Given the description of an element on the screen output the (x, y) to click on. 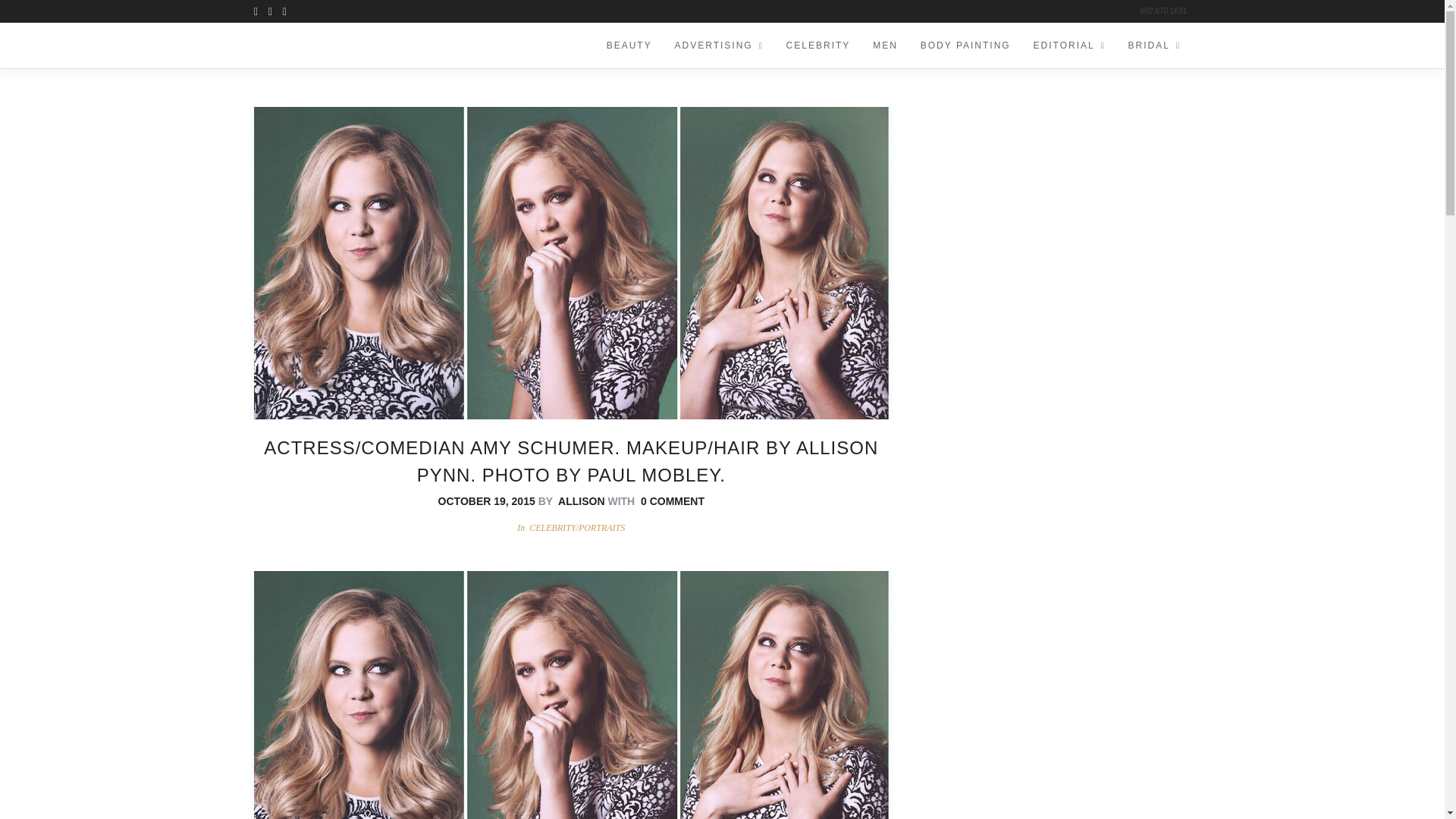
MEN (885, 46)
BEAUTY (629, 46)
CELEBRITY (818, 46)
CONTACT (508, 10)
EDITORIAL (1069, 46)
ADVERTISING (719, 46)
602.670.1631 (1157, 10)
Instagram (284, 11)
BEHIND THE SCENES (373, 10)
CLIENTS (452, 10)
BODY PAINTING (965, 46)
HOME (299, 10)
